Given the description of an element on the screen output the (x, y) to click on. 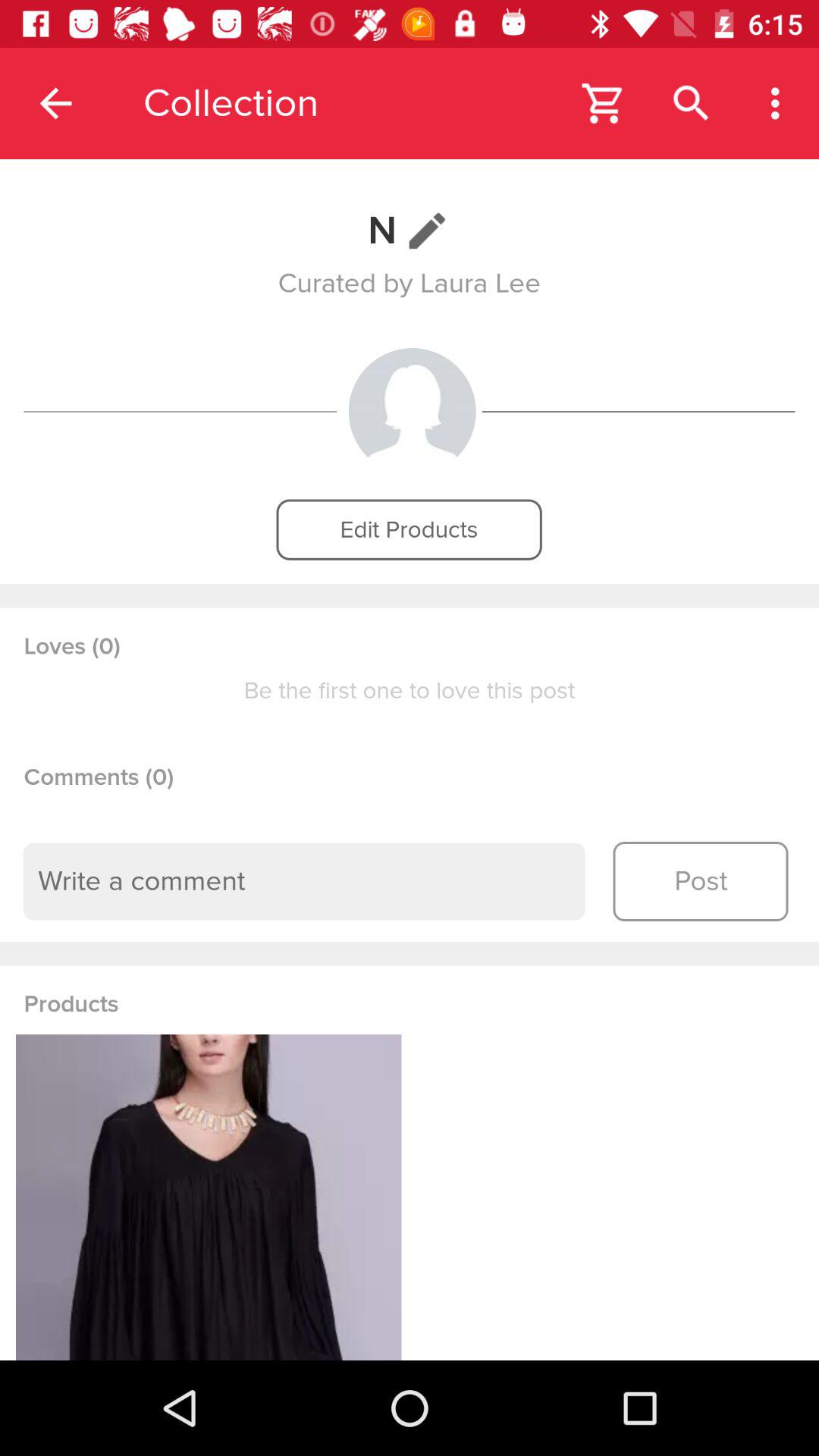
launch the icon above the loves (0) icon (409, 529)
